Given the description of an element on the screen output the (x, y) to click on. 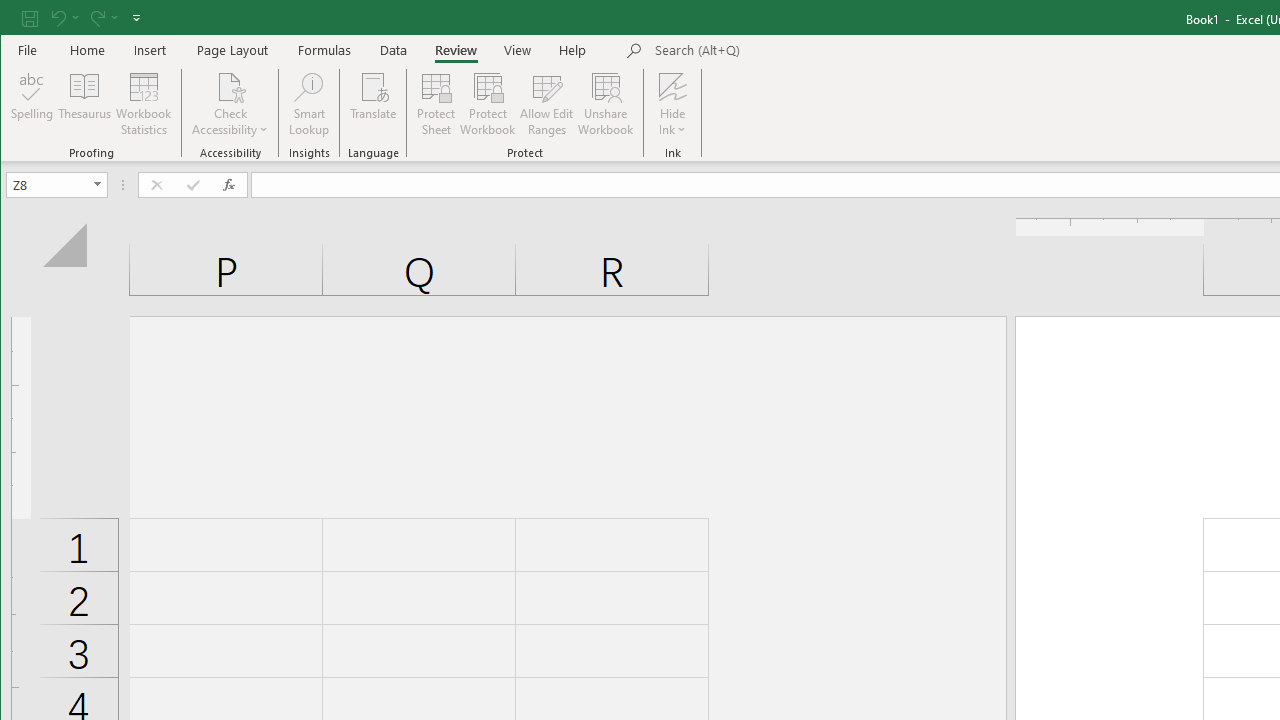
Workbook Statistics (143, 104)
